Given the description of an element on the screen output the (x, y) to click on. 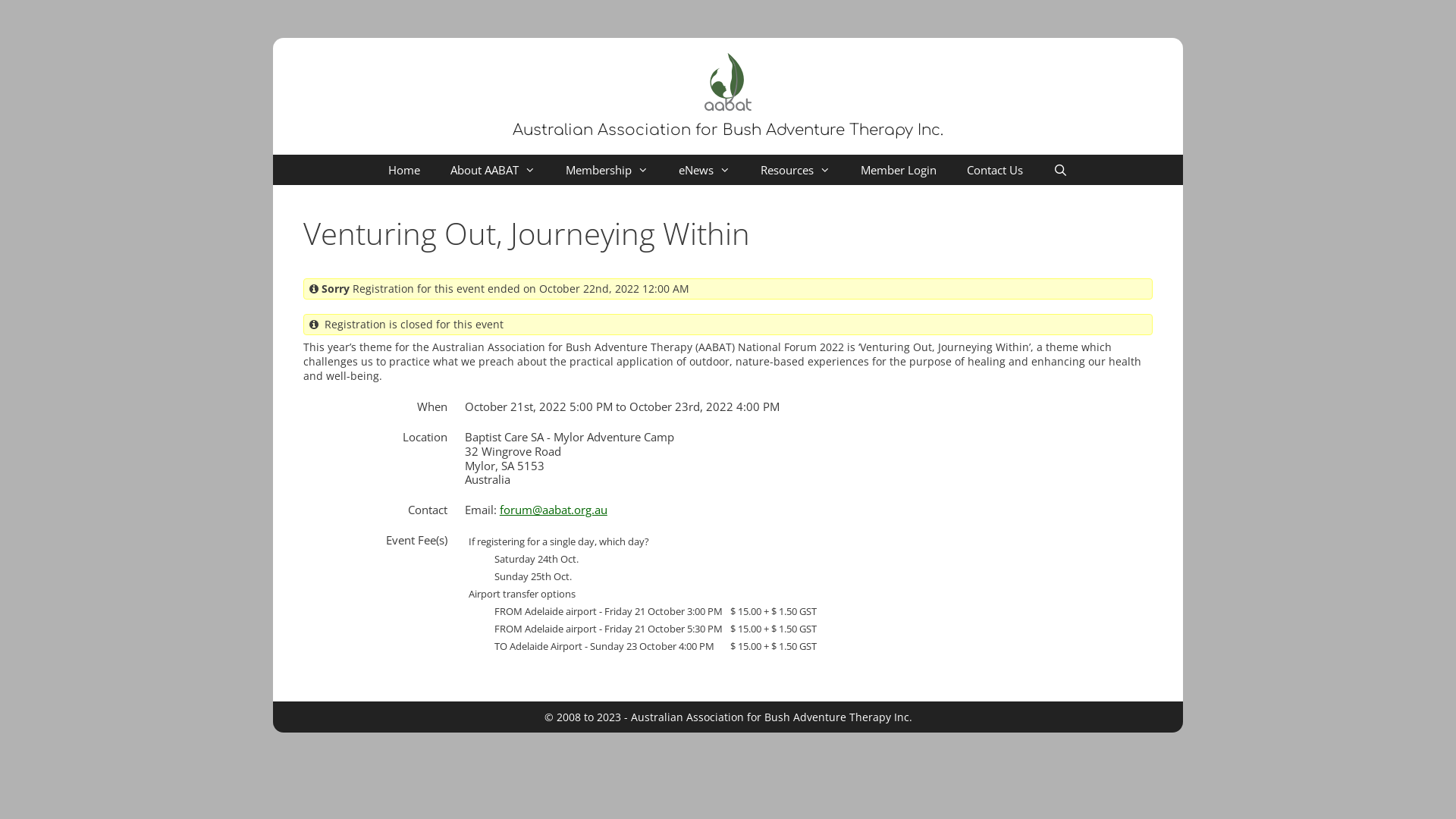
eNews Element type: text (704, 169)
About AABAT Element type: text (492, 169)
Resources Element type: text (795, 169)
Home Element type: text (404, 169)
Contact Us Element type: text (994, 169)
forum@aabat.org.au Element type: text (553, 509)
Membership Element type: text (606, 169)
Member Login Element type: text (898, 169)
Australian Association for Bush Adventure Therapy Inc. Element type: text (727, 129)
